Given the description of an element on the screen output the (x, y) to click on. 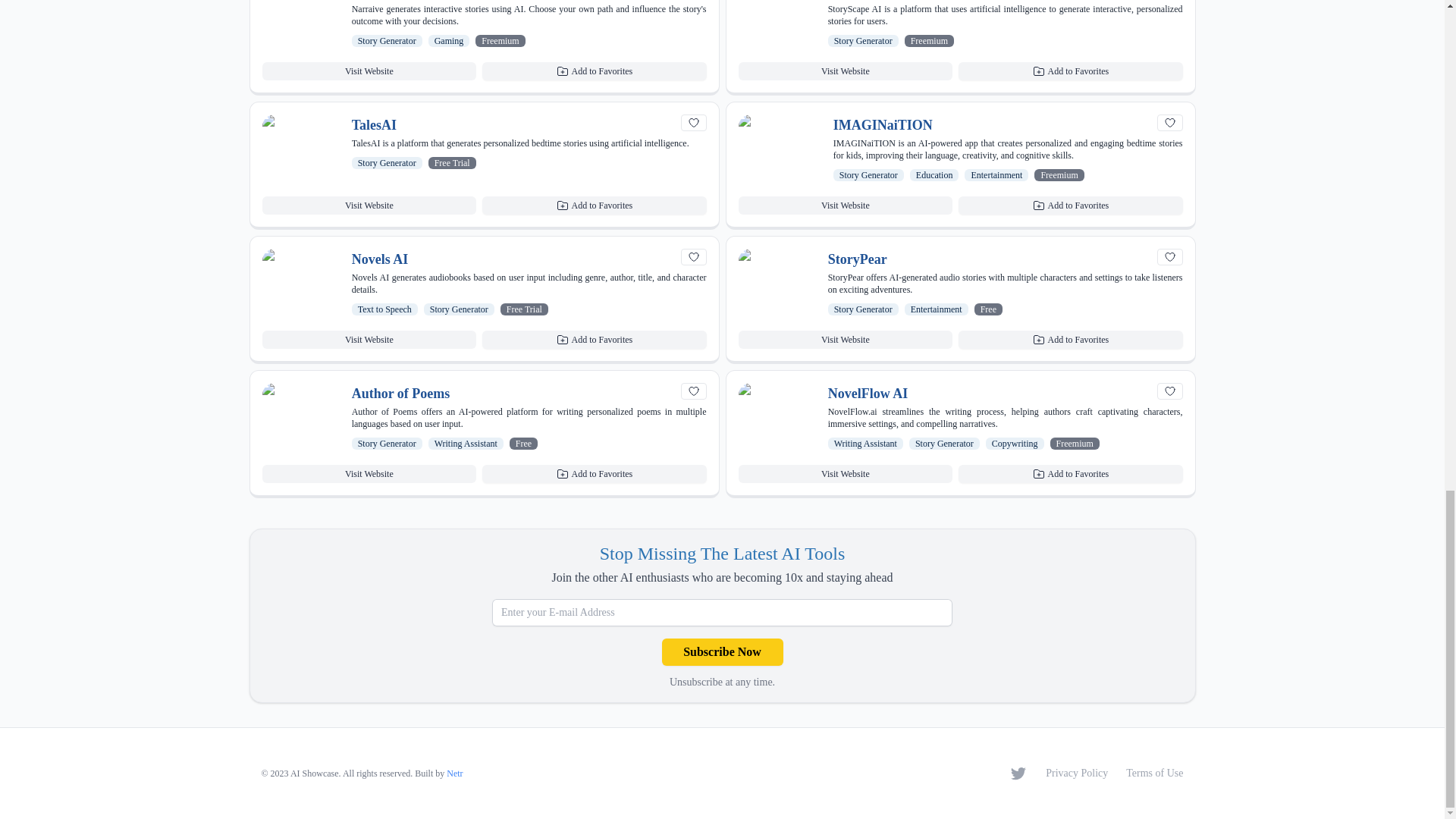
Visit Website (369, 71)
Story Generator (863, 40)
Story Generator (387, 40)
Narraive (378, 0)
StoryScape AI (870, 0)
Add to Favorites (593, 71)
Gaming (448, 40)
